Given the description of an element on the screen output the (x, y) to click on. 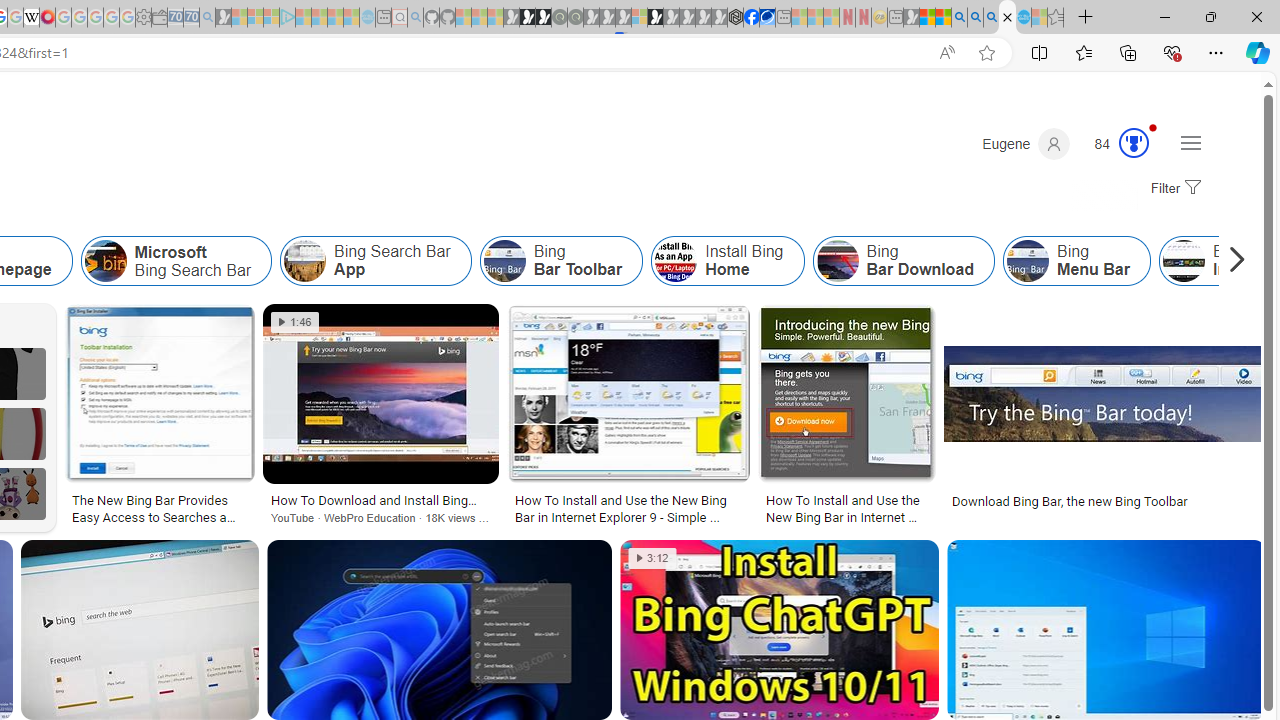
Download Bing Bar, the new Bing ToolbarSave (1104, 417)
Nordace | Facebook (751, 17)
